Given the description of an element on the screen output the (x, y) to click on. 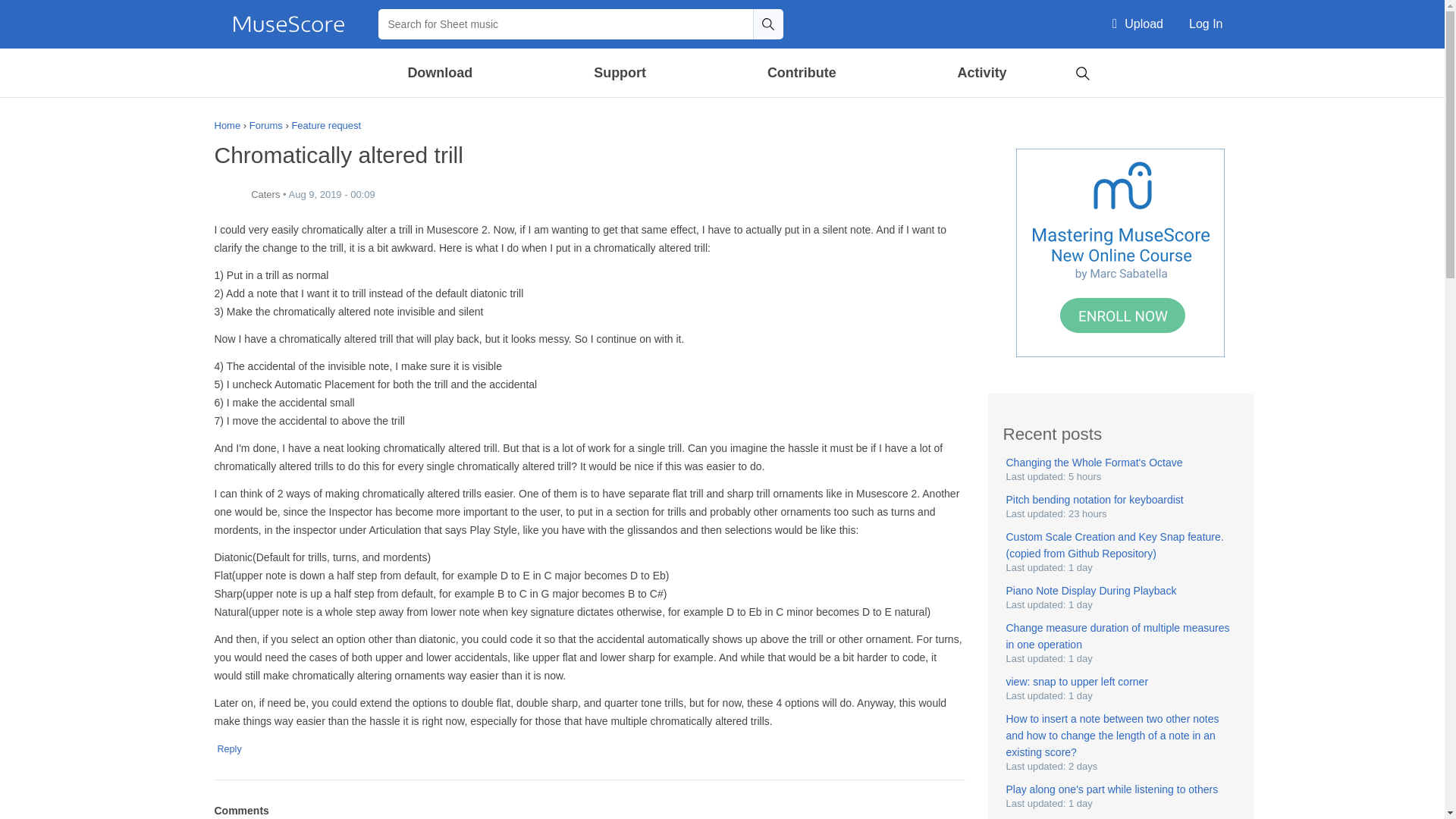
Support (619, 72)
Log In (1205, 24)
Contribute (801, 72)
Upload (1137, 24)
Home (287, 23)
Caters (229, 195)
MuseScore (287, 23)
Search (767, 24)
Download (440, 72)
Activity (981, 72)
Search (767, 24)
Search (1082, 71)
